Given the description of an element on the screen output the (x, y) to click on. 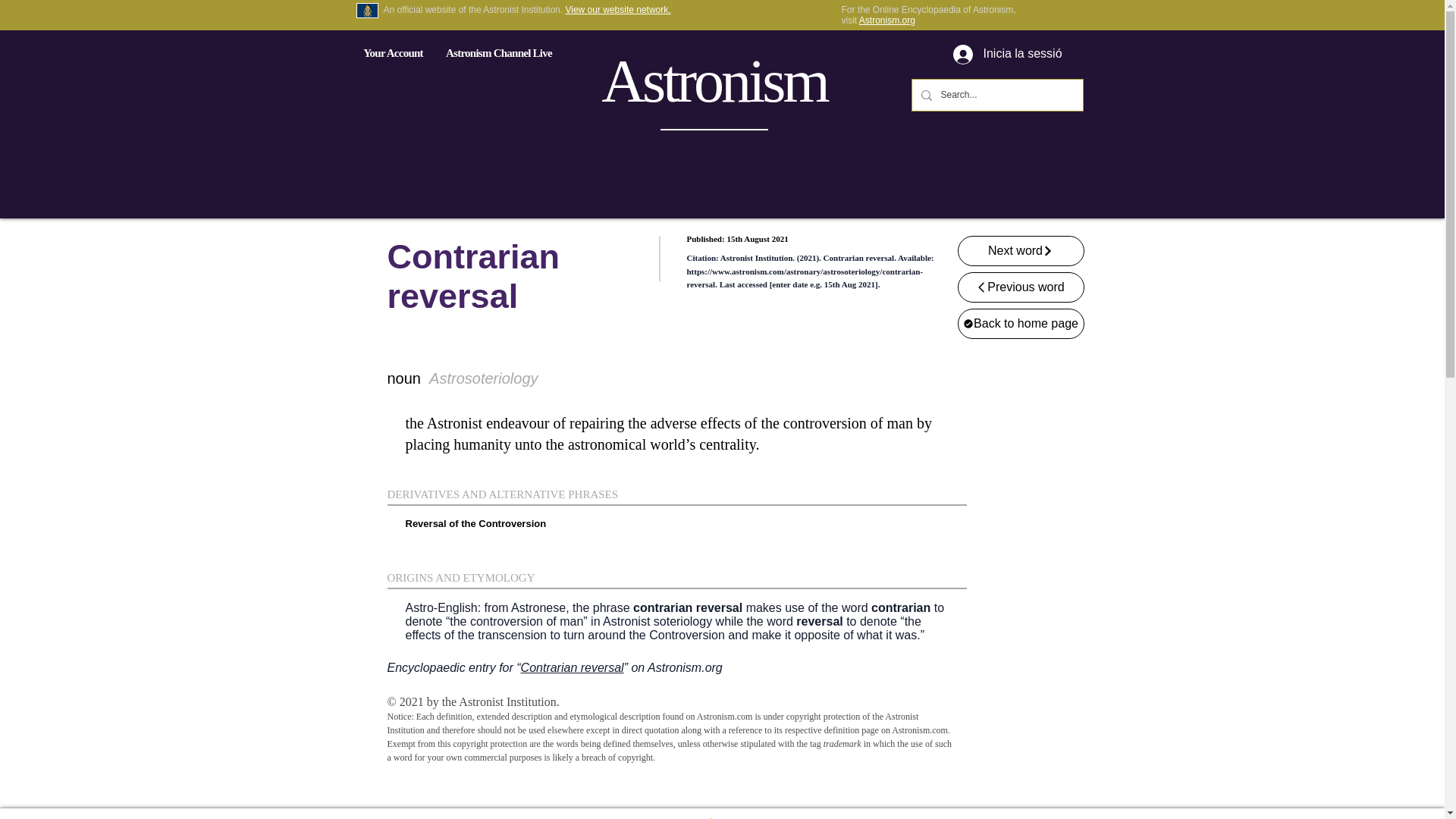
View our website network. (616, 9)
Astronism.org (887, 20)
Your Account (392, 51)
Astronism Channel Live (498, 51)
